Given the description of an element on the screen output the (x, y) to click on. 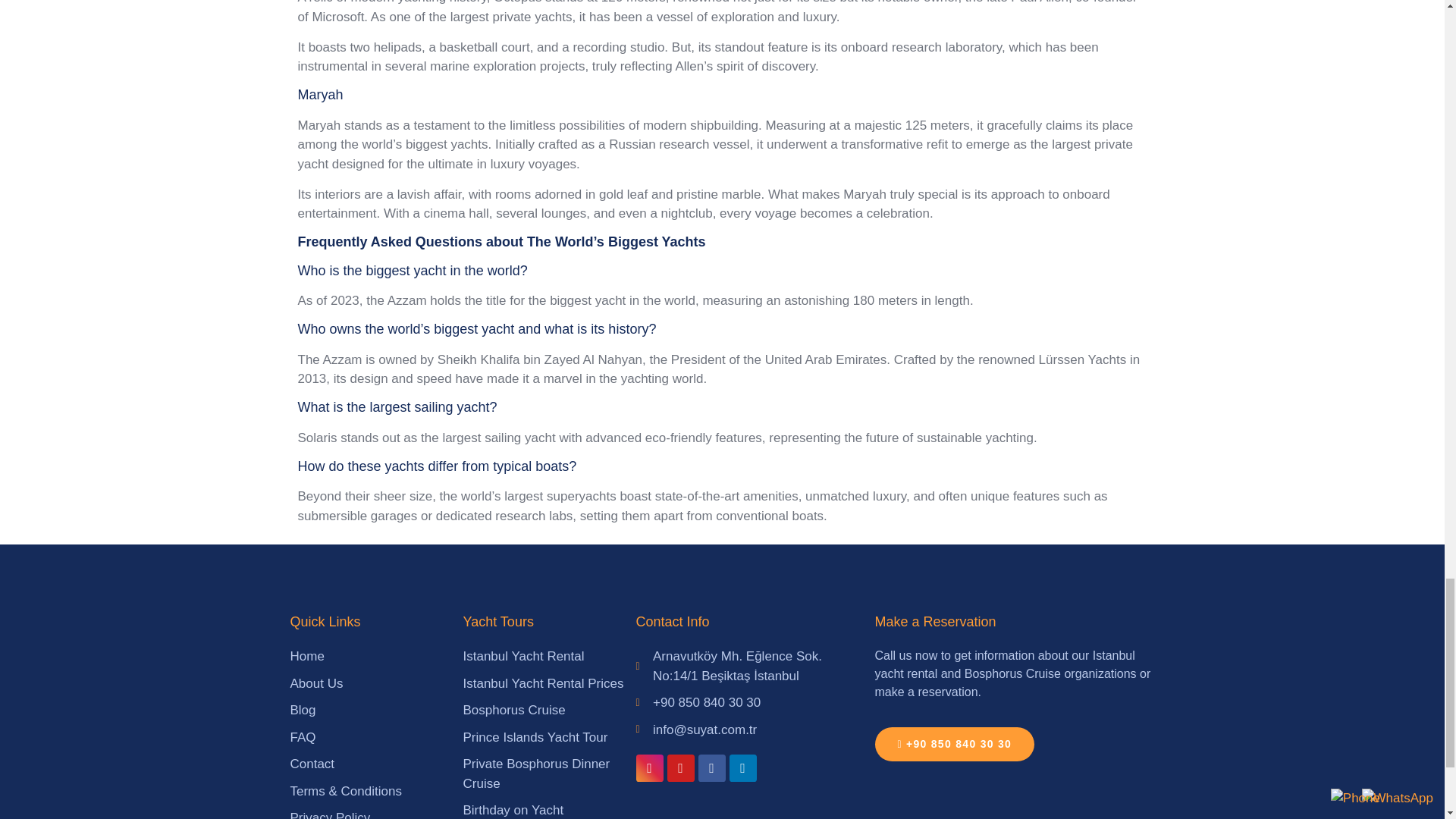
About Us (376, 683)
Blog (376, 710)
Bosphorus Cruise (548, 710)
Birthday on Yacht (548, 809)
Istanbul Yacht Rental (548, 656)
Private Bosphorus Dinner Cruise (548, 773)
Prince Islands Yacht Tour (548, 737)
Contact (376, 763)
FAQ (376, 737)
Privacy Policy (376, 813)
Istanbul Yacht Rental Prices (548, 683)
Home (376, 656)
